Given the description of an element on the screen output the (x, y) to click on. 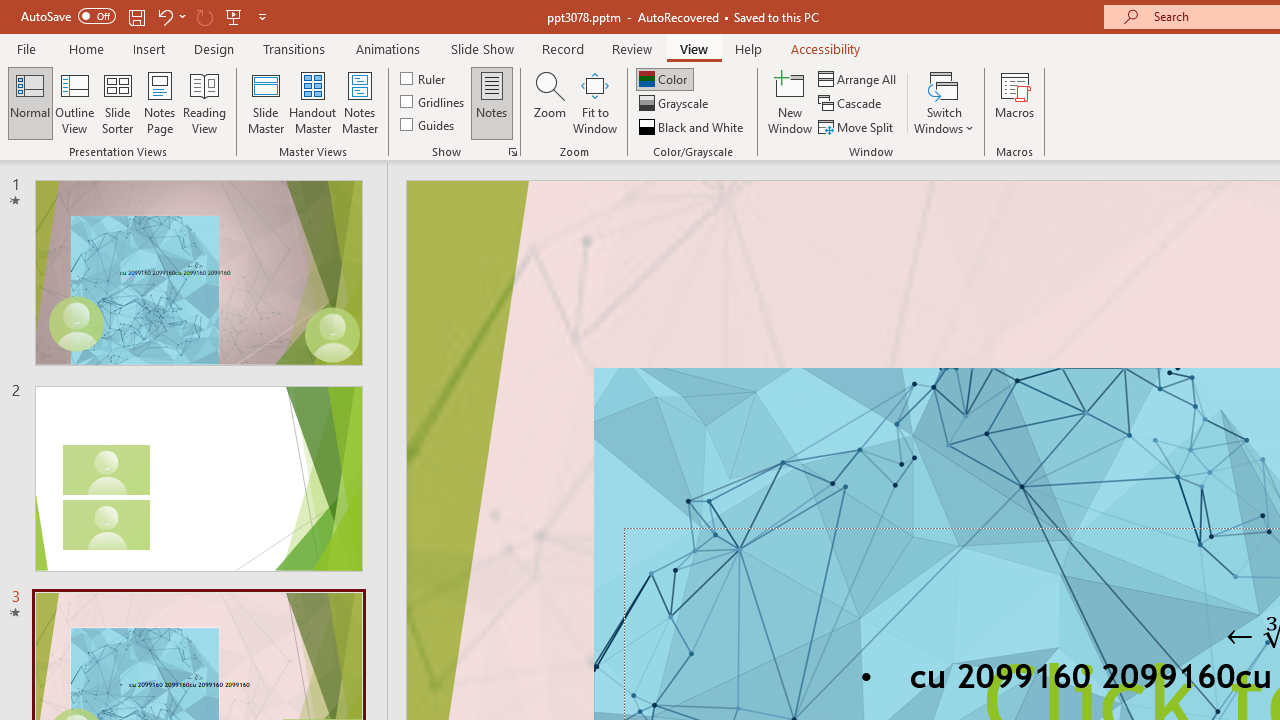
Arrange All (858, 78)
Save (136, 15)
Macros (1014, 102)
Notes (492, 102)
Slide Master (265, 102)
Animations (388, 48)
Handout Master (312, 102)
Quick Access Toolbar (145, 16)
From Beginning (234, 15)
Notes Master (360, 102)
Zoom... (549, 102)
Accessibility (825, 48)
